Given the description of an element on the screen output the (x, y) to click on. 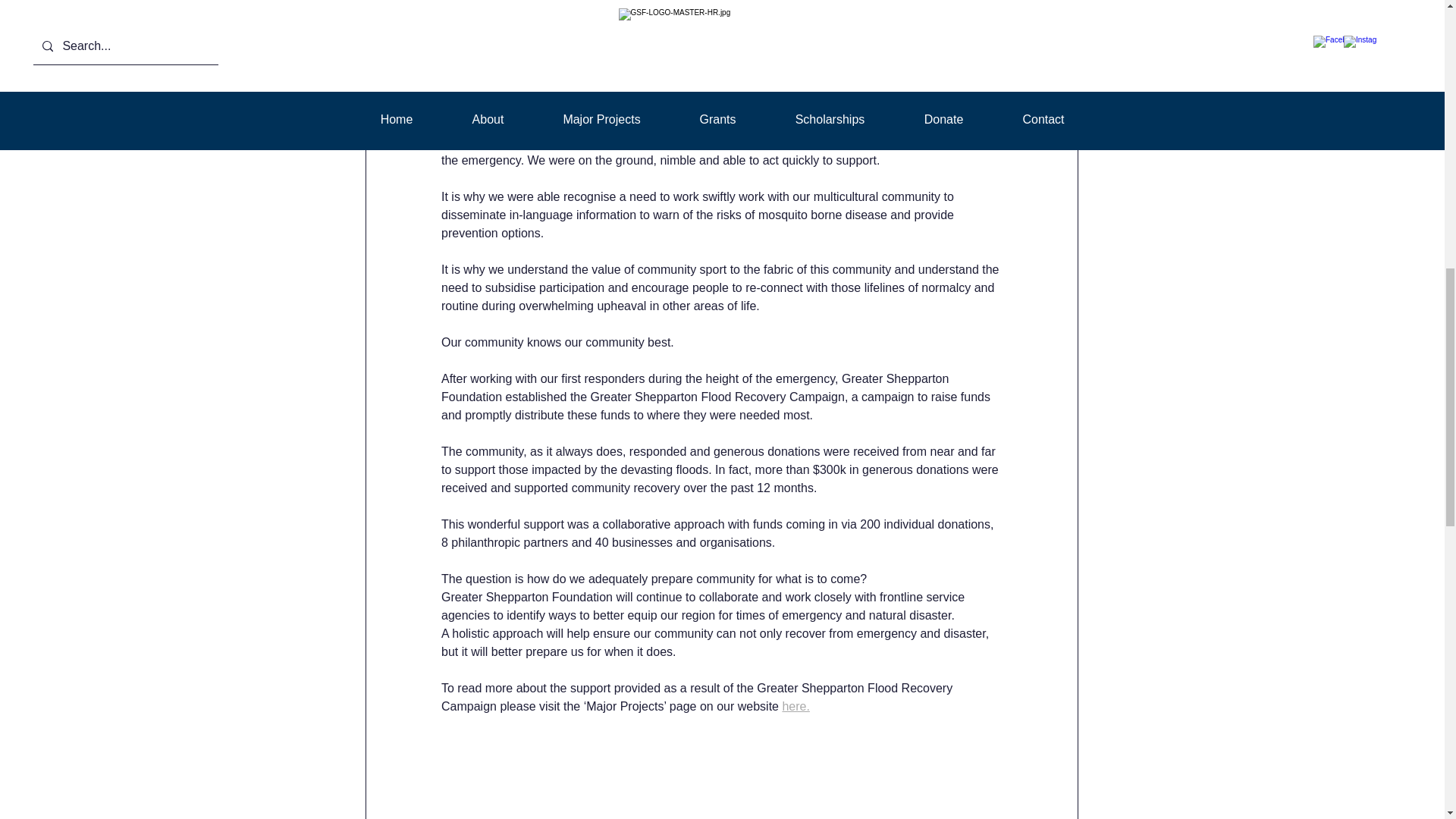
here. (795, 706)
